Given the description of an element on the screen output the (x, y) to click on. 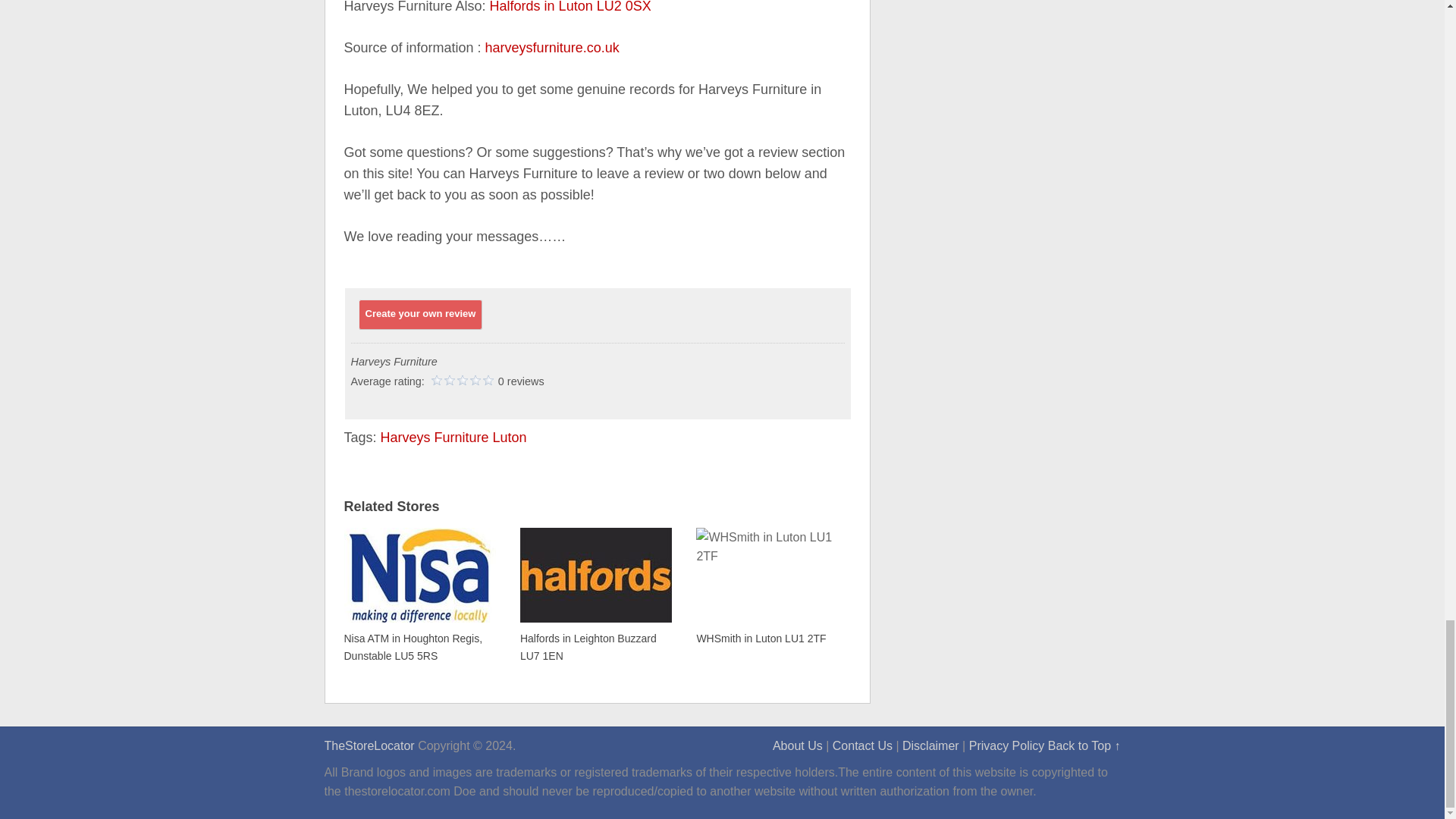
Nisa ATM in Houghton Regis, Dunstable LU5 5RS (419, 594)
Halfords in Leighton Buzzard LU7 1EN (595, 594)
Find your store (369, 745)
WHSmith in Luton LU1 2TF (771, 585)
